Given the description of an element on the screen output the (x, y) to click on. 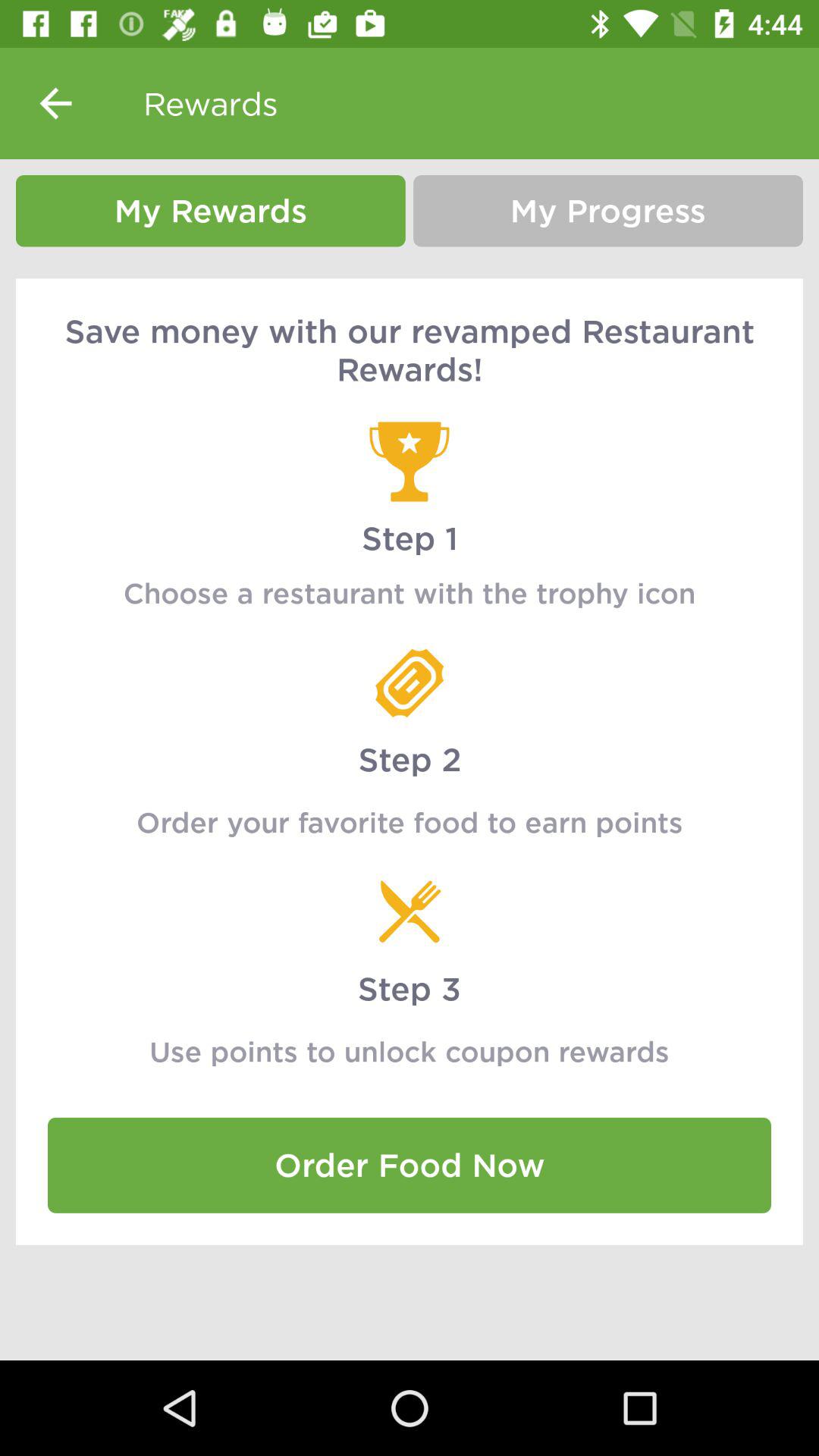
press icon next to my rewards (608, 210)
